Given the description of an element on the screen output the (x, y) to click on. 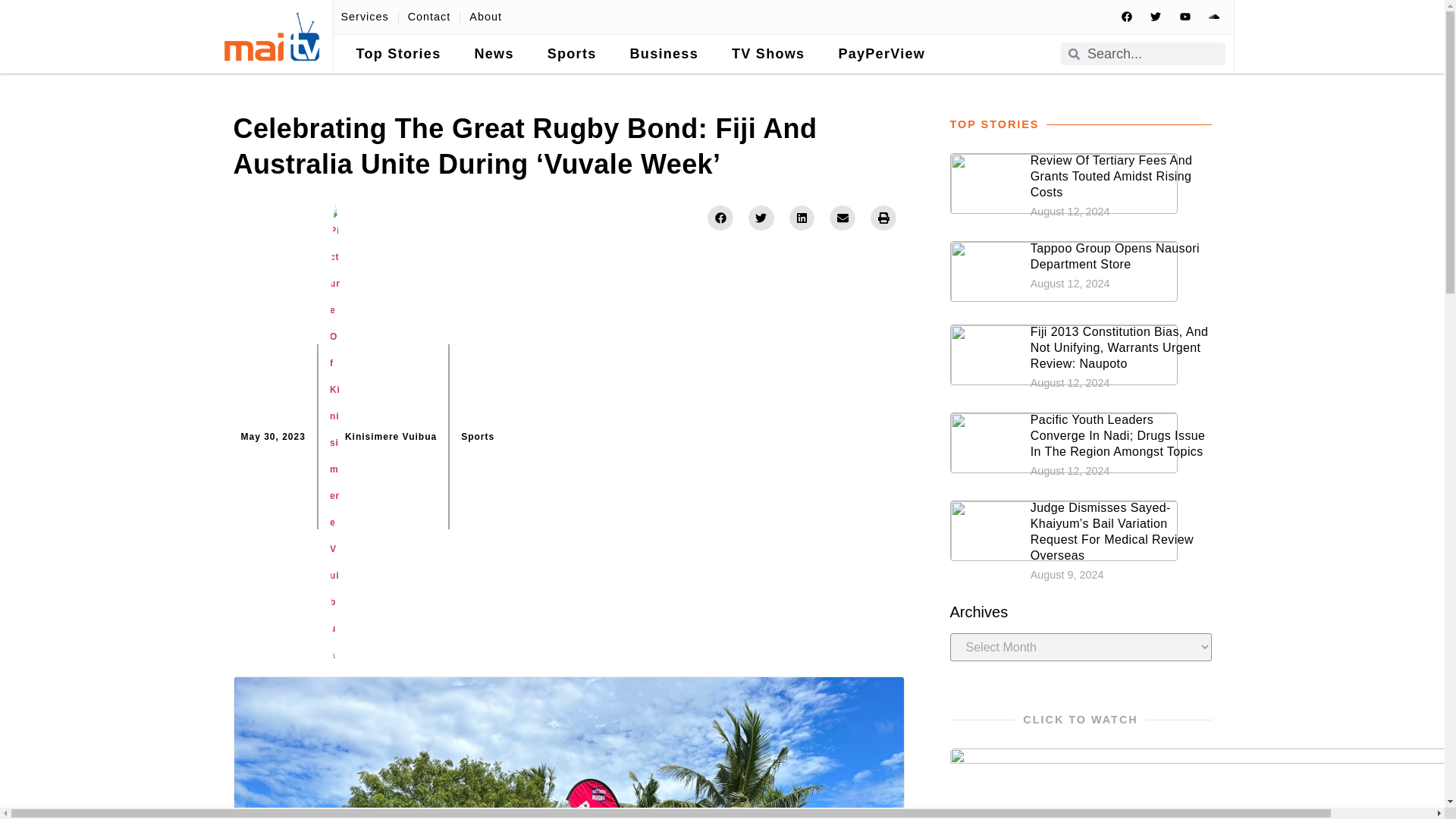
Services (364, 17)
Tappoo Group Opens Nausori Department Store (1114, 256)
Top Stories (398, 54)
PayPerView (881, 54)
Contact (429, 17)
Business (663, 54)
May 30, 2023 (273, 437)
News (493, 54)
